Given the description of an element on the screen output the (x, y) to click on. 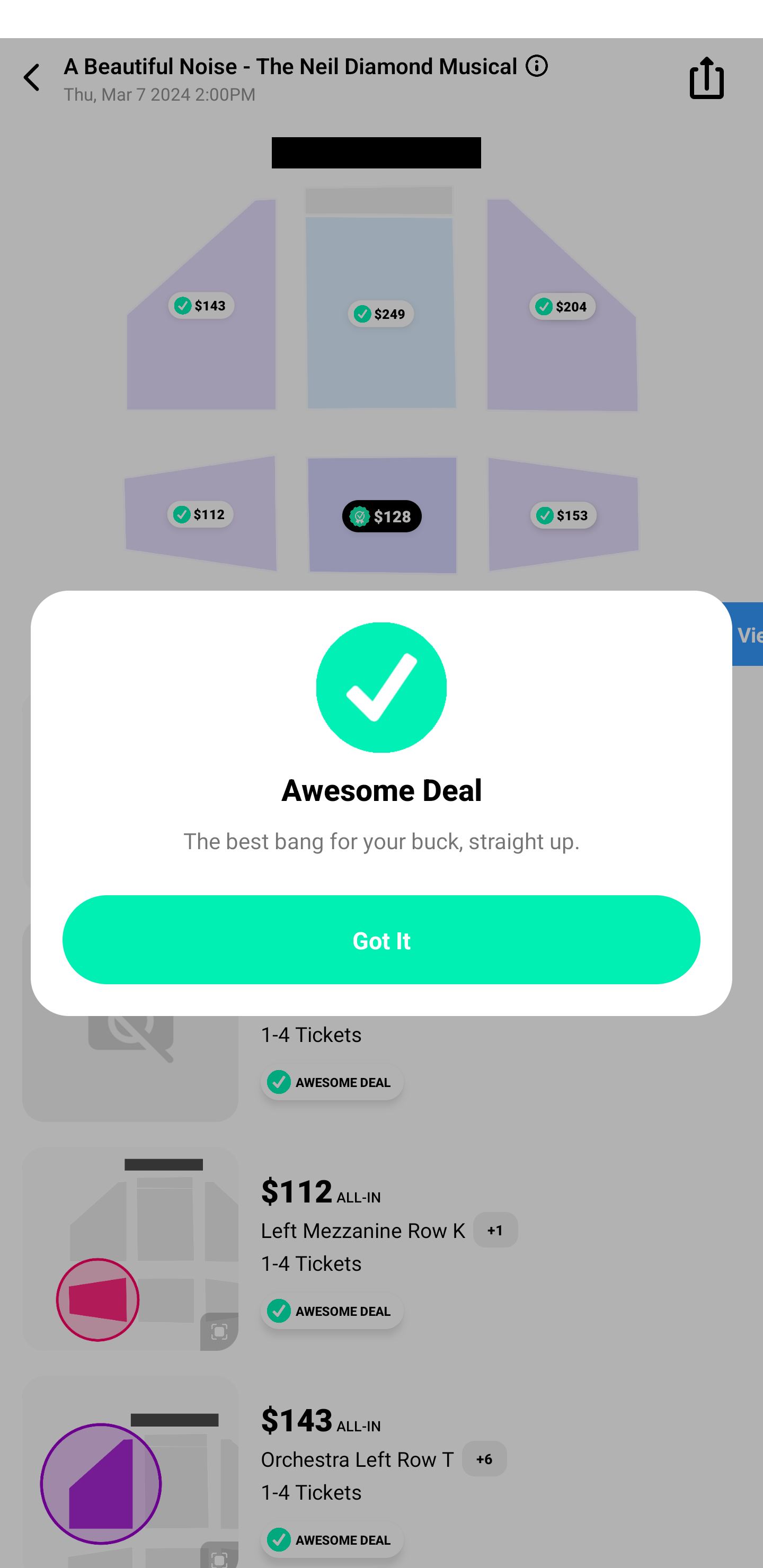
Got It (381, 939)
